Given the description of an element on the screen output the (x, y) to click on. 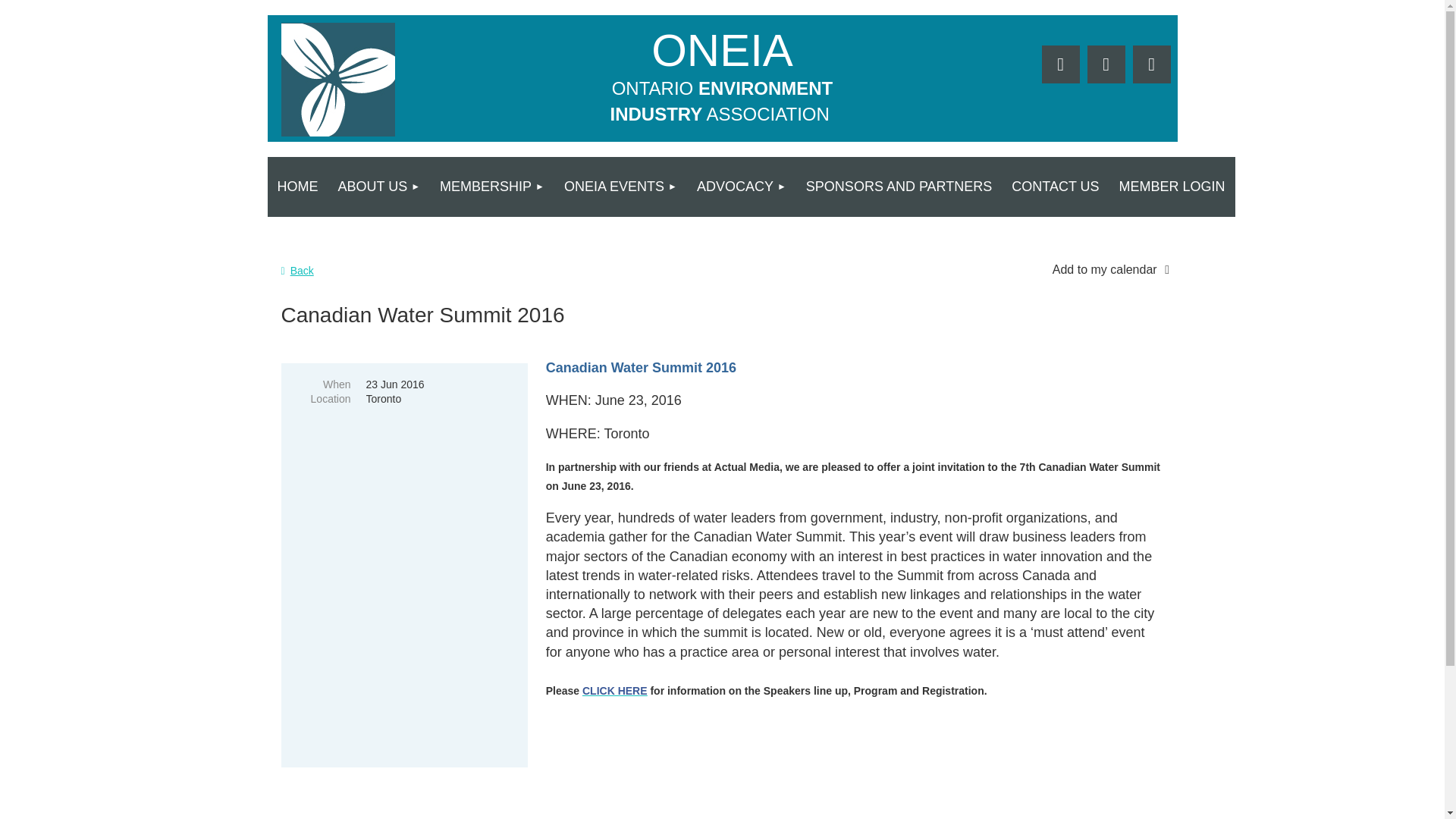
ABOUT US (378, 187)
HOME (296, 187)
MEMBERSHIP (491, 187)
